Given the description of an element on the screen output the (x, y) to click on. 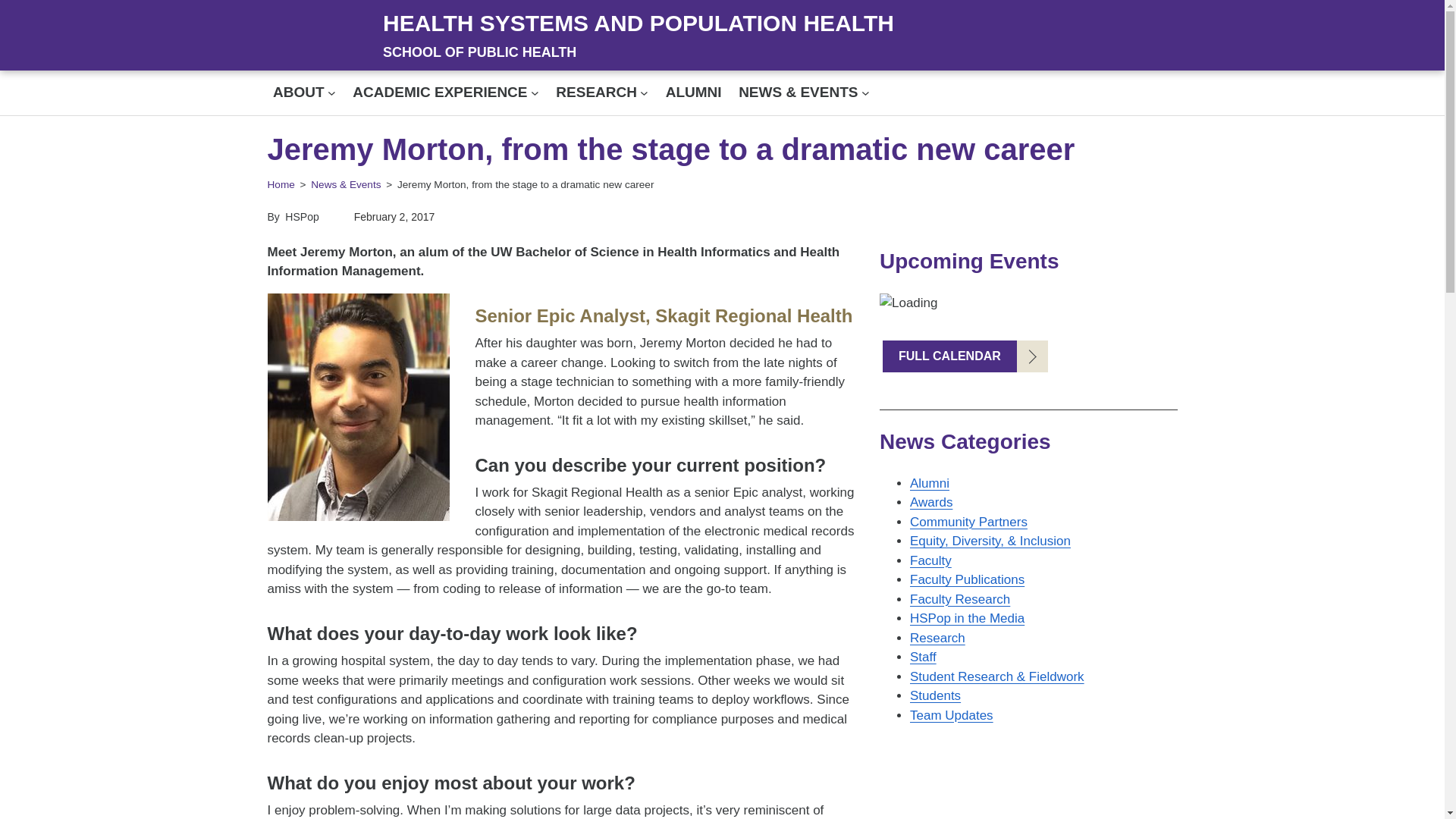
University of Washington (315, 36)
ACADEMIC EXPERIENCE (439, 92)
SCHOOL OF PUBLIC HEALTH (479, 52)
HEALTH SYSTEMS AND POPULATION HEALTH (637, 23)
ABOUT (298, 92)
